Given the description of an element on the screen output the (x, y) to click on. 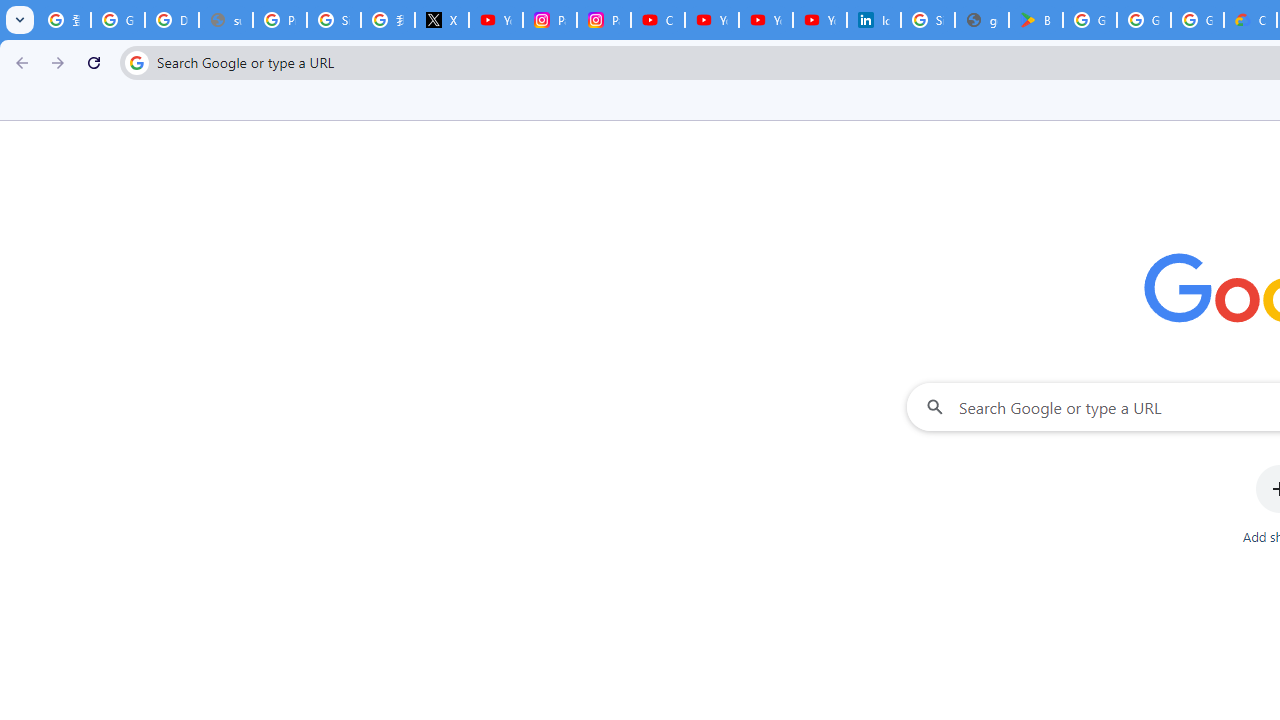
Bluey: Let's Play! - Apps on Google Play (1035, 20)
Sign in - Google Accounts (333, 20)
Search icon (136, 62)
YouTube Culture & Trends - YouTube Top 10, 2021 (765, 20)
Privacy Help Center - Policies Help (280, 20)
Google Workspace - Specific Terms (1197, 20)
google_privacy_policy_en.pdf (981, 20)
YouTube Content Monetization Policies - How YouTube Works (495, 20)
X (441, 20)
